Given the description of an element on the screen output the (x, y) to click on. 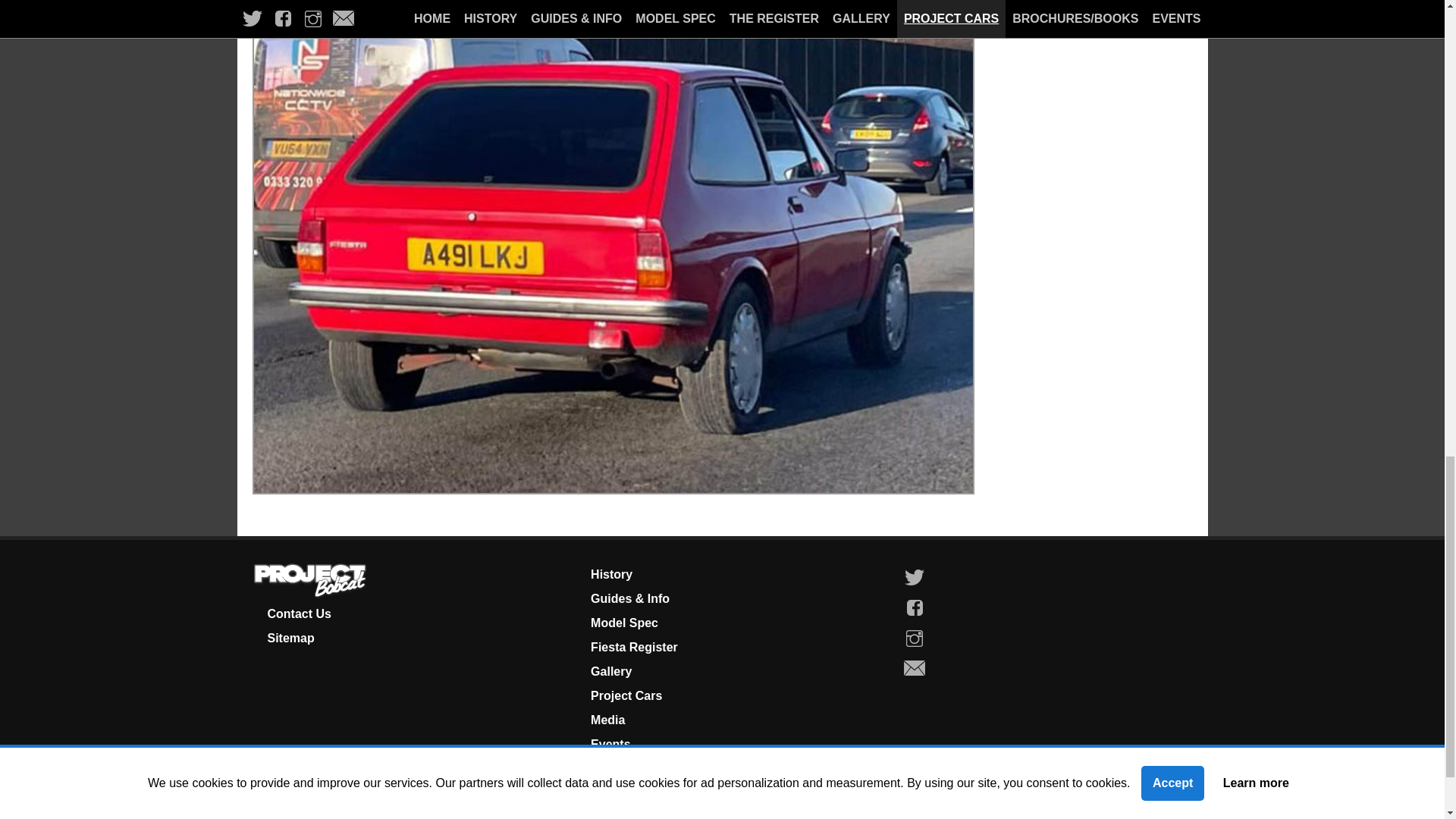
Contact Us (298, 613)
Project Bobcat Instagram (914, 638)
contact project bobcat (298, 613)
Events (610, 744)
Gallery (611, 671)
History (611, 574)
Email Project Bobcat (914, 668)
Project Cars (626, 695)
Model Spec (624, 622)
project bobcat sitemap (290, 637)
